Given the description of an element on the screen output the (x, y) to click on. 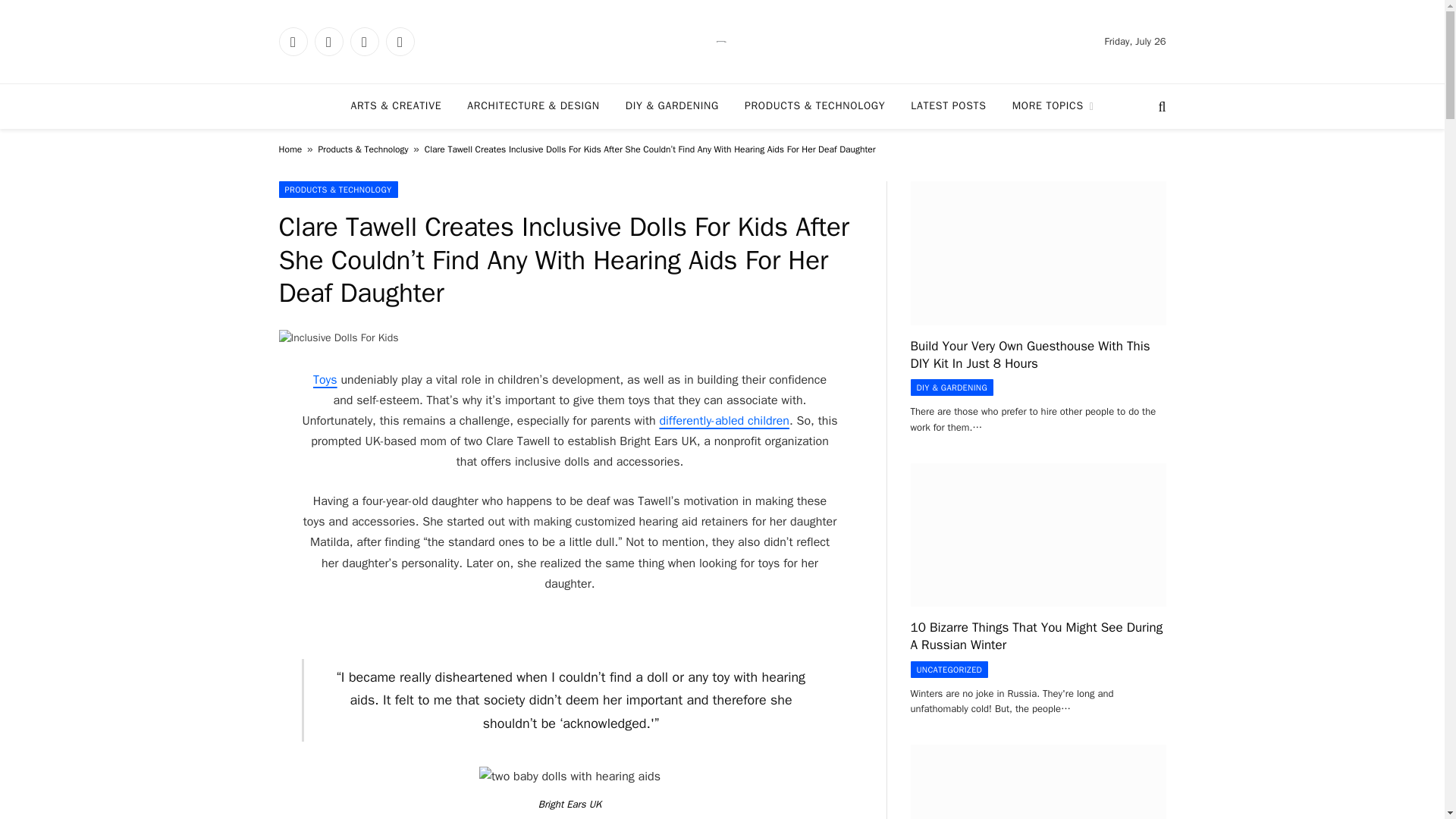
Facebook (293, 41)
Toys (325, 378)
Home (290, 149)
Pinterest (399, 41)
Latest Posts (948, 106)
Instagram (364, 41)
differently-abled children (724, 420)
MORE TOPICS (1052, 106)
LATEST POSTS (948, 106)
